Given the description of an element on the screen output the (x, y) to click on. 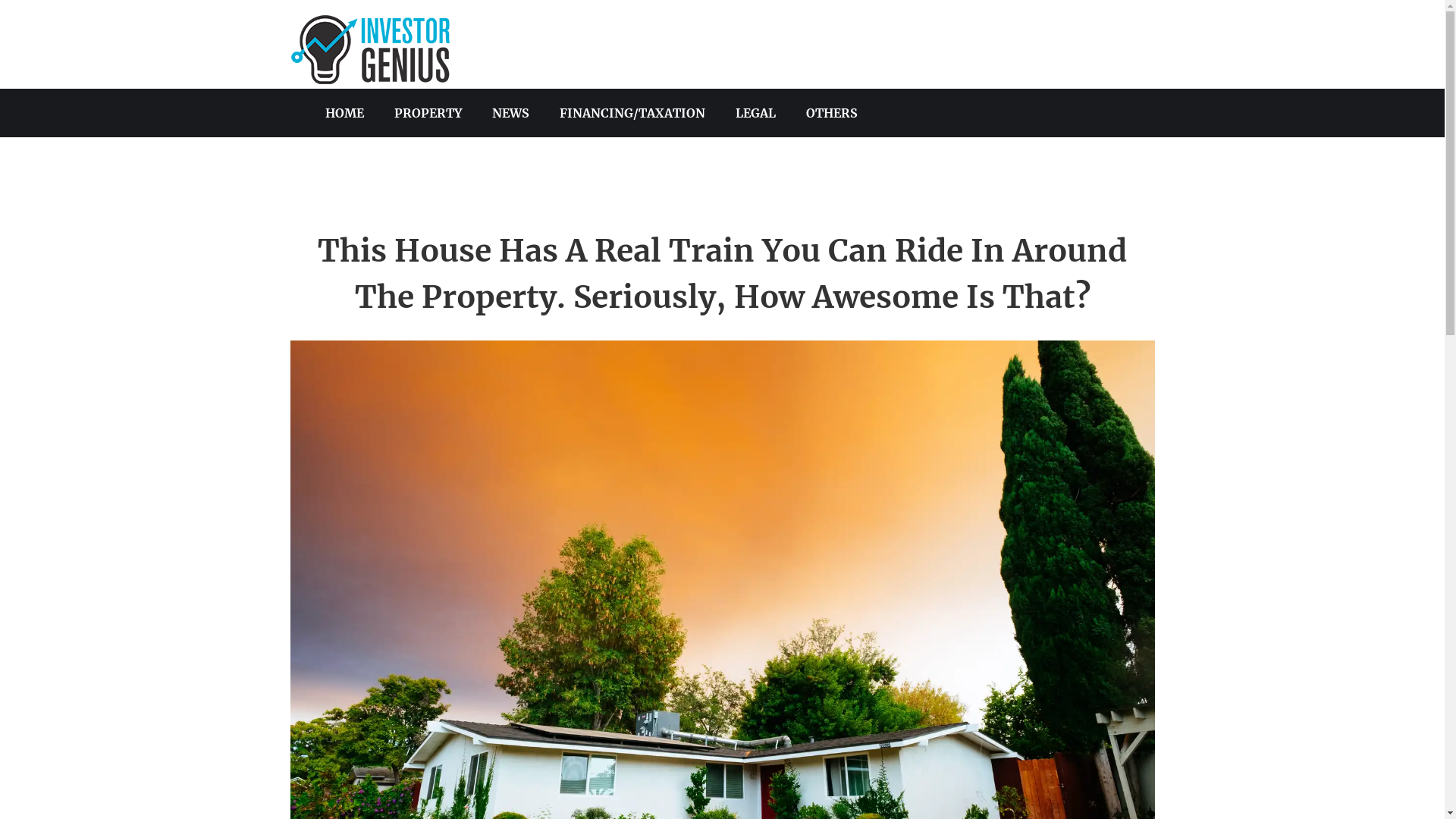
Investor Genius Element type: hover (368, 79)
HOME Element type: text (344, 112)
NEWS Element type: text (510, 112)
FINANCING/TAXATION Element type: text (632, 112)
PROPERTY Element type: text (427, 112)
LEGAL Element type: text (755, 112)
OTHERS Element type: text (831, 112)
